Given the description of an element on the screen output the (x, y) to click on. 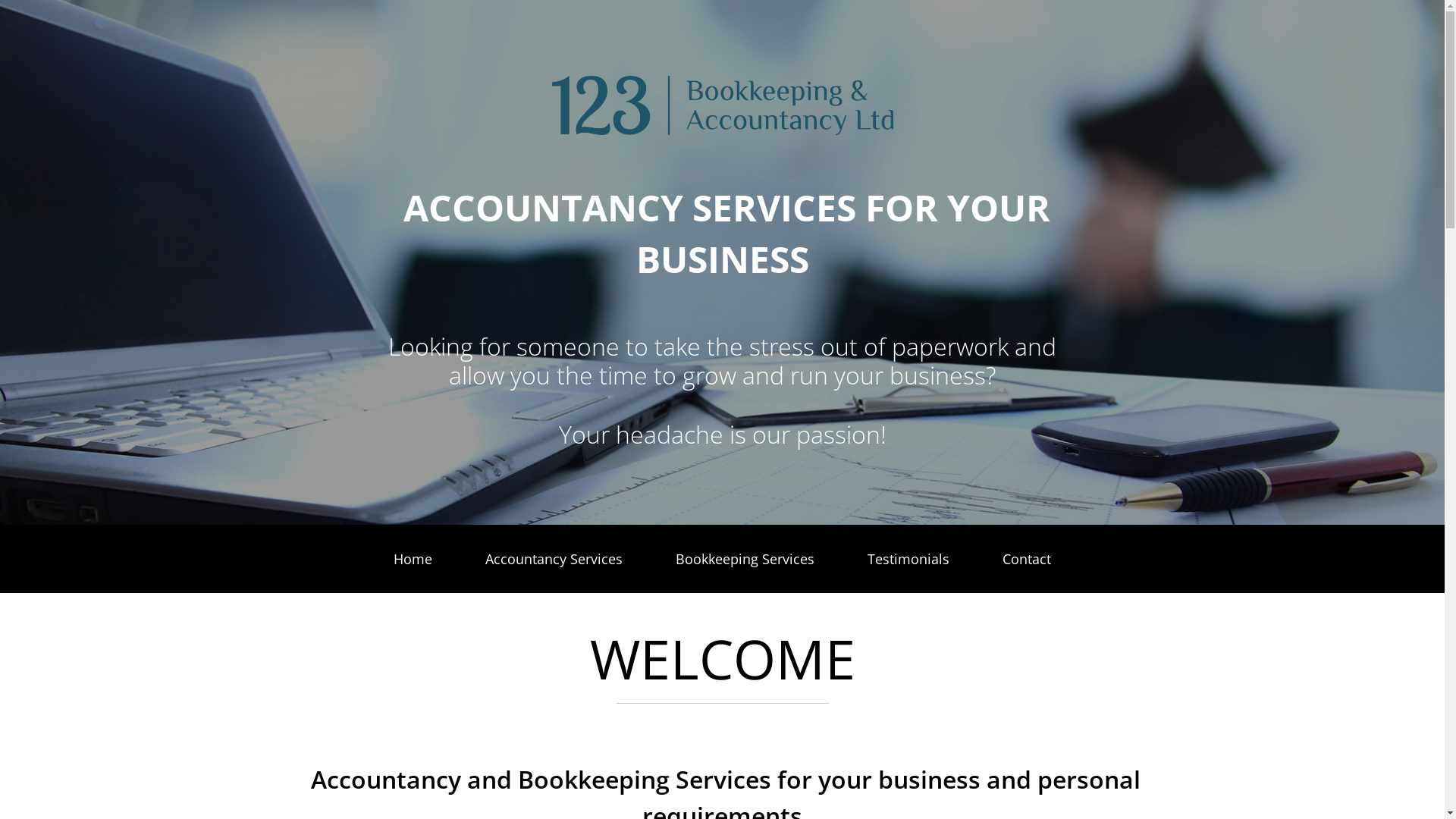
Contact Element type: text (1026, 558)
Home Element type: text (412, 558)
Bookkeeping Services Element type: text (744, 558)
Testimonials Element type: text (908, 558)
Accountancy Services Element type: text (553, 558)
